Given the description of an element on the screen output the (x, y) to click on. 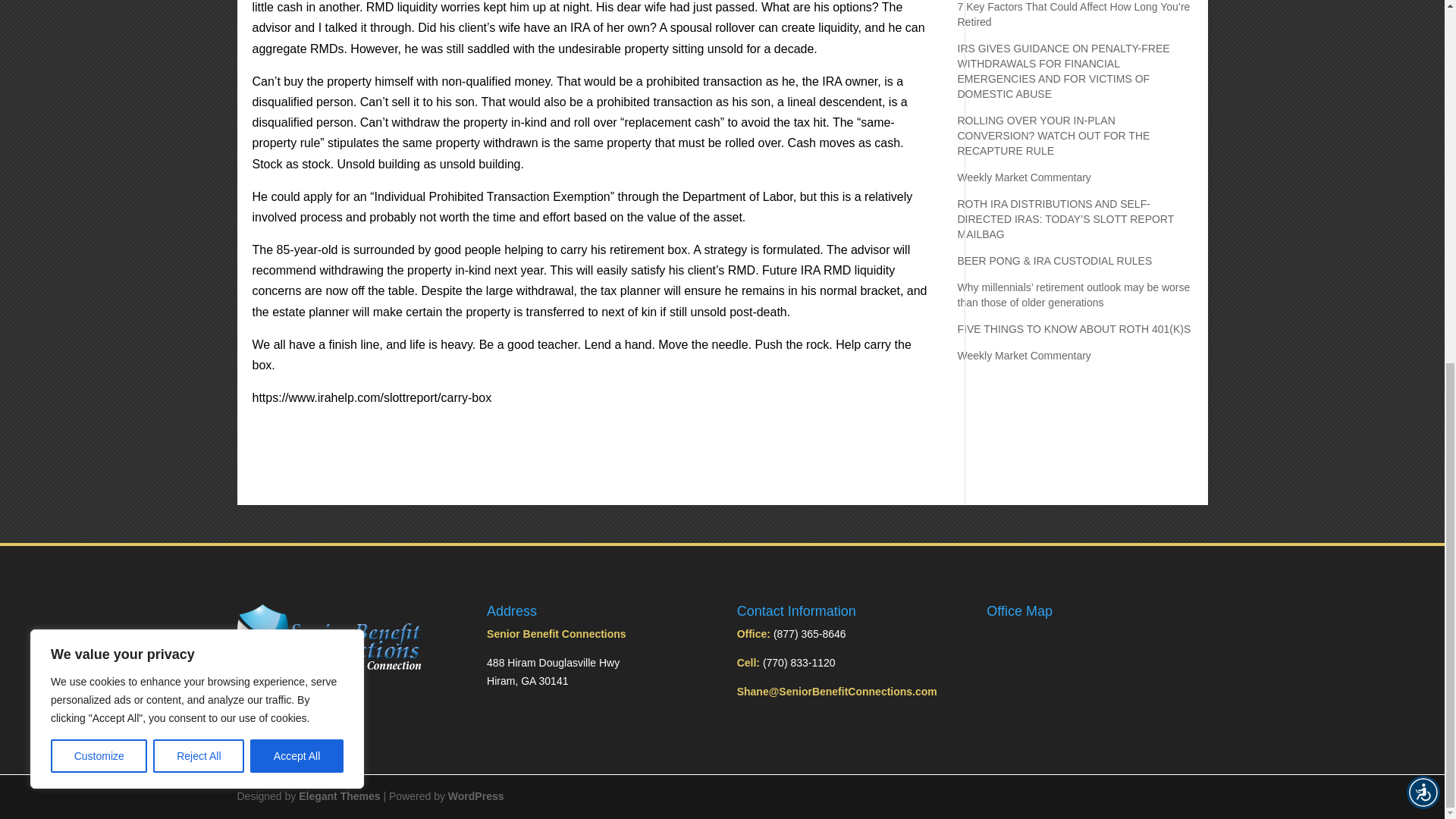
Customize (98, 108)
Premium WordPress Themes (339, 796)
Reject All (198, 108)
Accessibility Menu (1422, 144)
Accept All (296, 108)
